Given the description of an element on the screen output the (x, y) to click on. 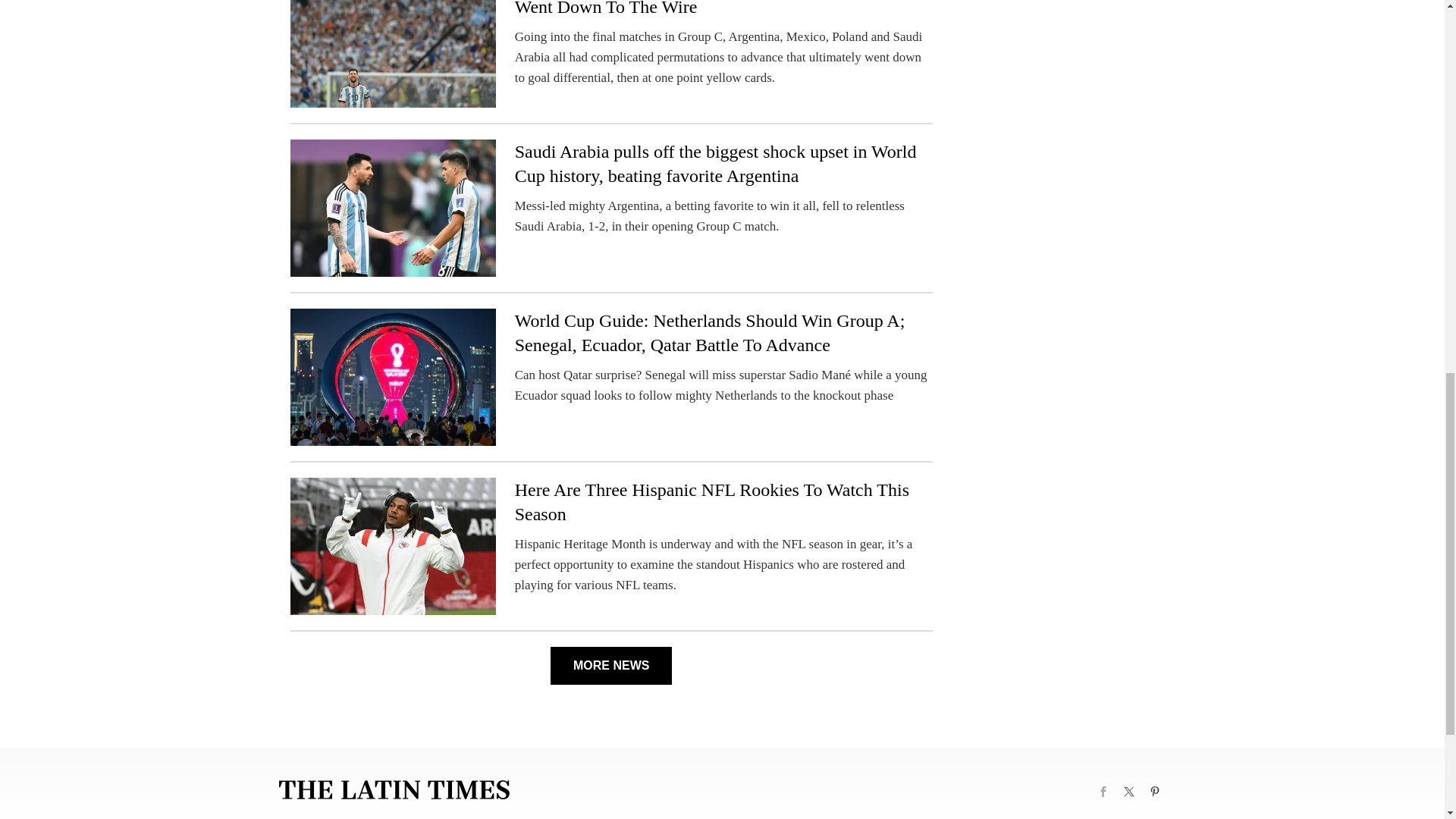
Twitter (1129, 791)
Here Are Three Hispanic NFL Rookies To Watch This Season (711, 501)
MORE NEWS (610, 665)
Pinterest (1154, 791)
Facebook (1103, 791)
